Given the description of an element on the screen output the (x, y) to click on. 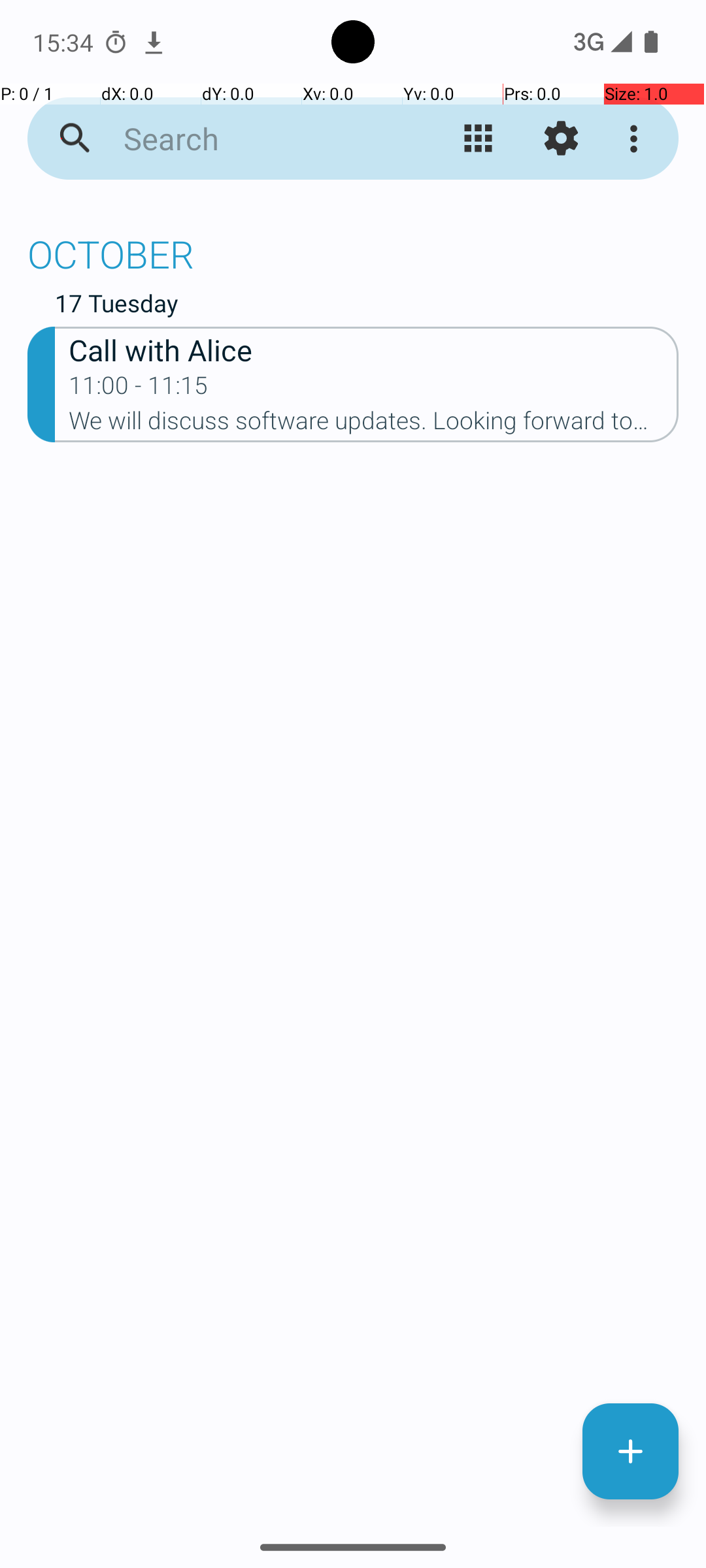
11:00 - 11:15 Element type: android.widget.TextView (137, 389)
We will discuss software updates. Looking forward to productive discussions. Element type: android.widget.TextView (373, 424)
